Given the description of an element on the screen output the (x, y) to click on. 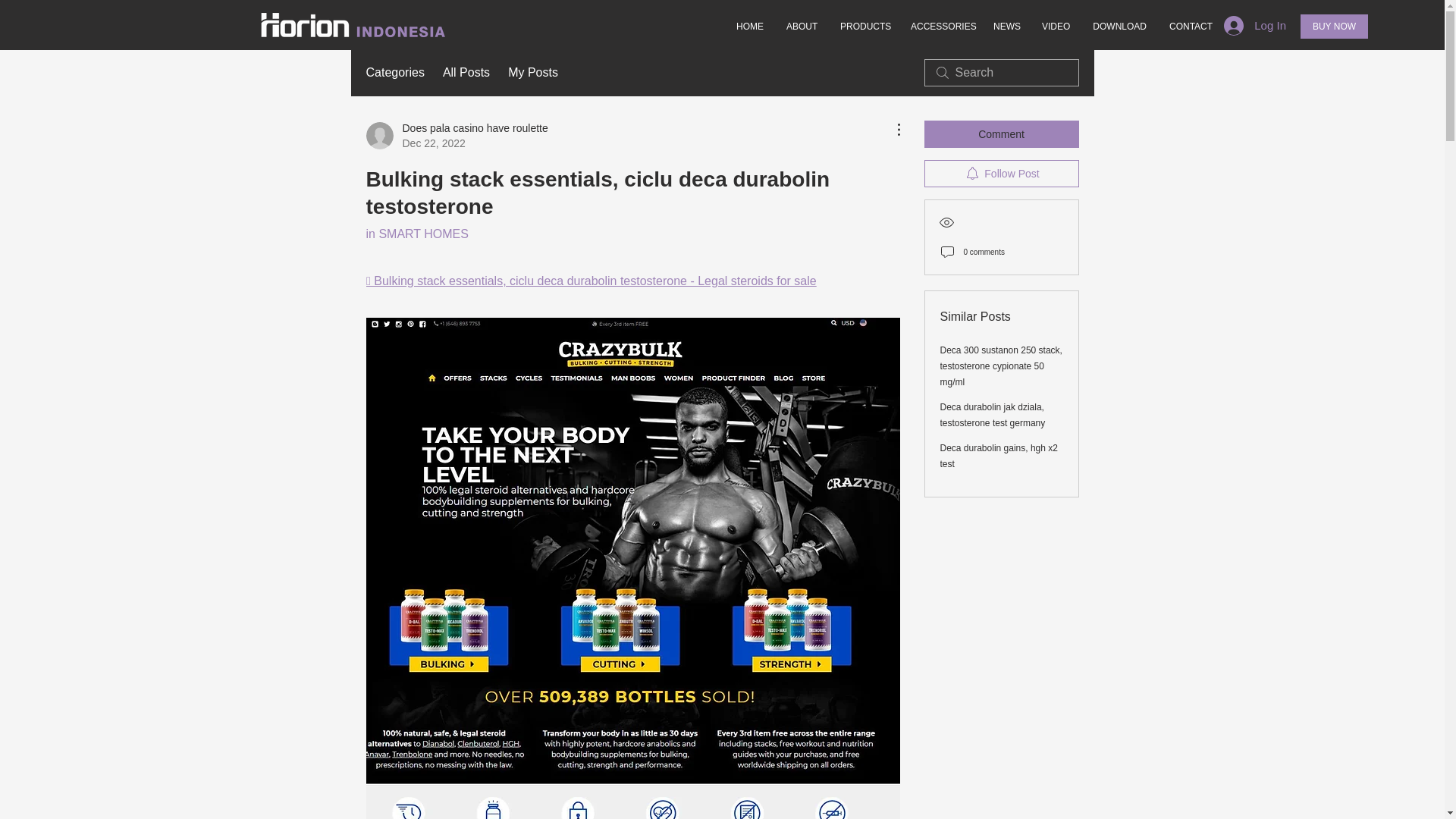
VIDEO (1055, 27)
NEWS (1005, 27)
Categories (456, 135)
CONTACT (394, 72)
ACCESSORIES (1190, 27)
HOME (940, 27)
DOWNLOAD (748, 27)
in SMART HOMES (1118, 27)
PRODUCTS (416, 233)
My Posts (863, 27)
All Posts (532, 72)
BUY NOW (465, 72)
Comment (1334, 26)
ABOUT (1000, 134)
